Given the description of an element on the screen output the (x, y) to click on. 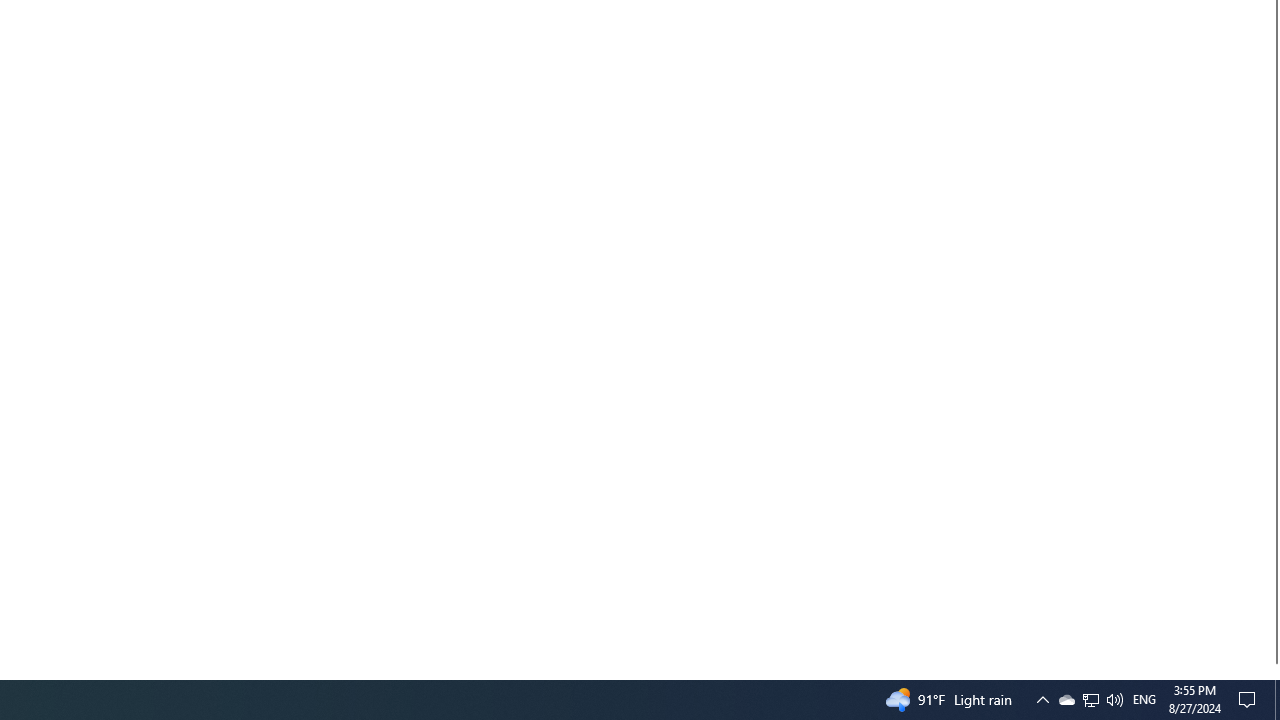
Vertical Small Increase (1272, 671)
